Given the description of an element on the screen output the (x, y) to click on. 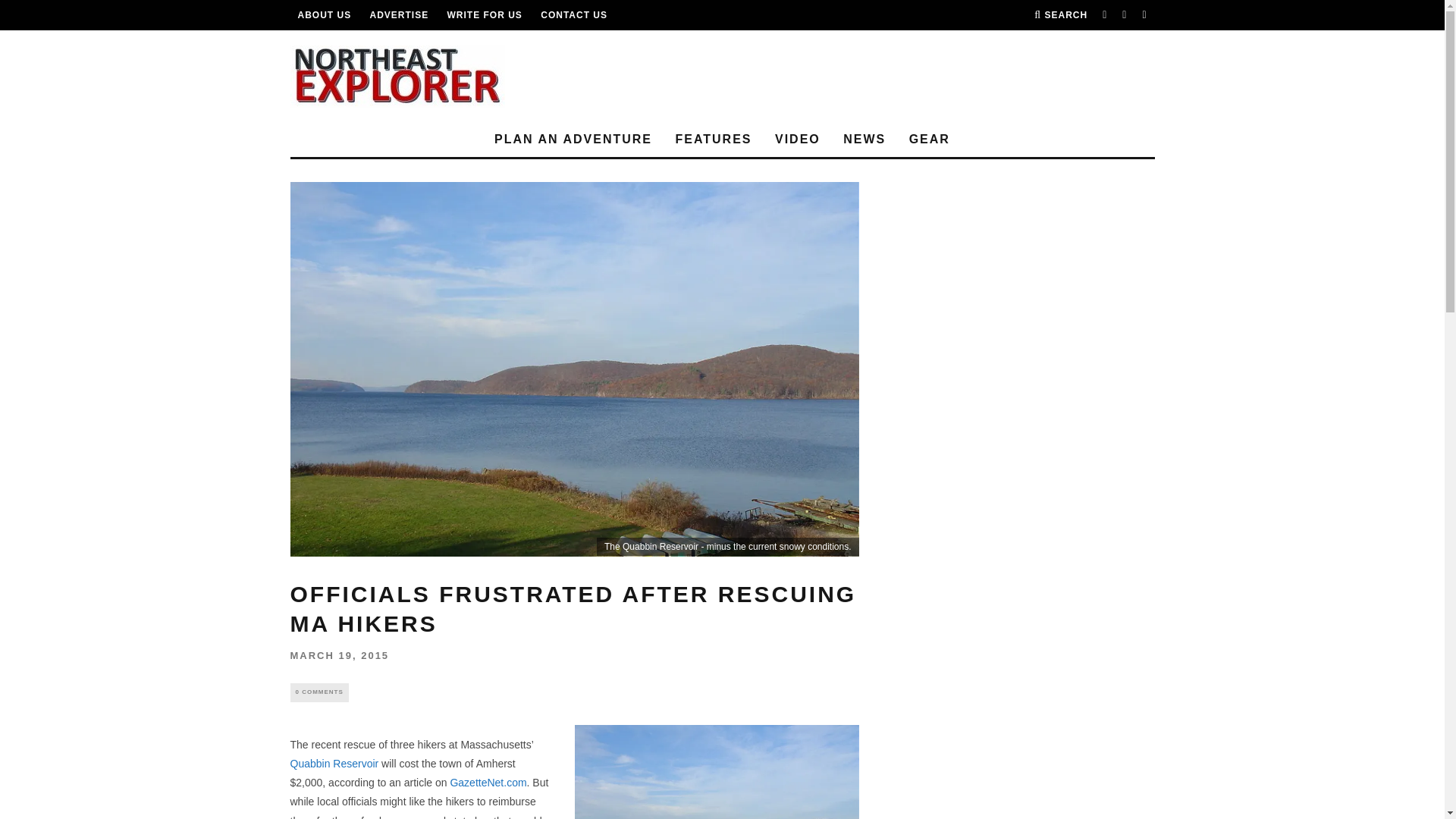
GazetteNet.com (487, 782)
CONTACT US (573, 15)
ADVERTISE (399, 15)
0 COMMENTS (318, 692)
SEARCH (1060, 15)
WRITE FOR US (484, 15)
FEATURES (712, 139)
VIDEO (797, 139)
PLAN AN ADVENTURE (572, 139)
ABOUT US (323, 15)
NEWS (864, 139)
Quabbin Reservoir (333, 763)
GEAR (929, 139)
Search (1060, 15)
